Given the description of an element on the screen output the (x, y) to click on. 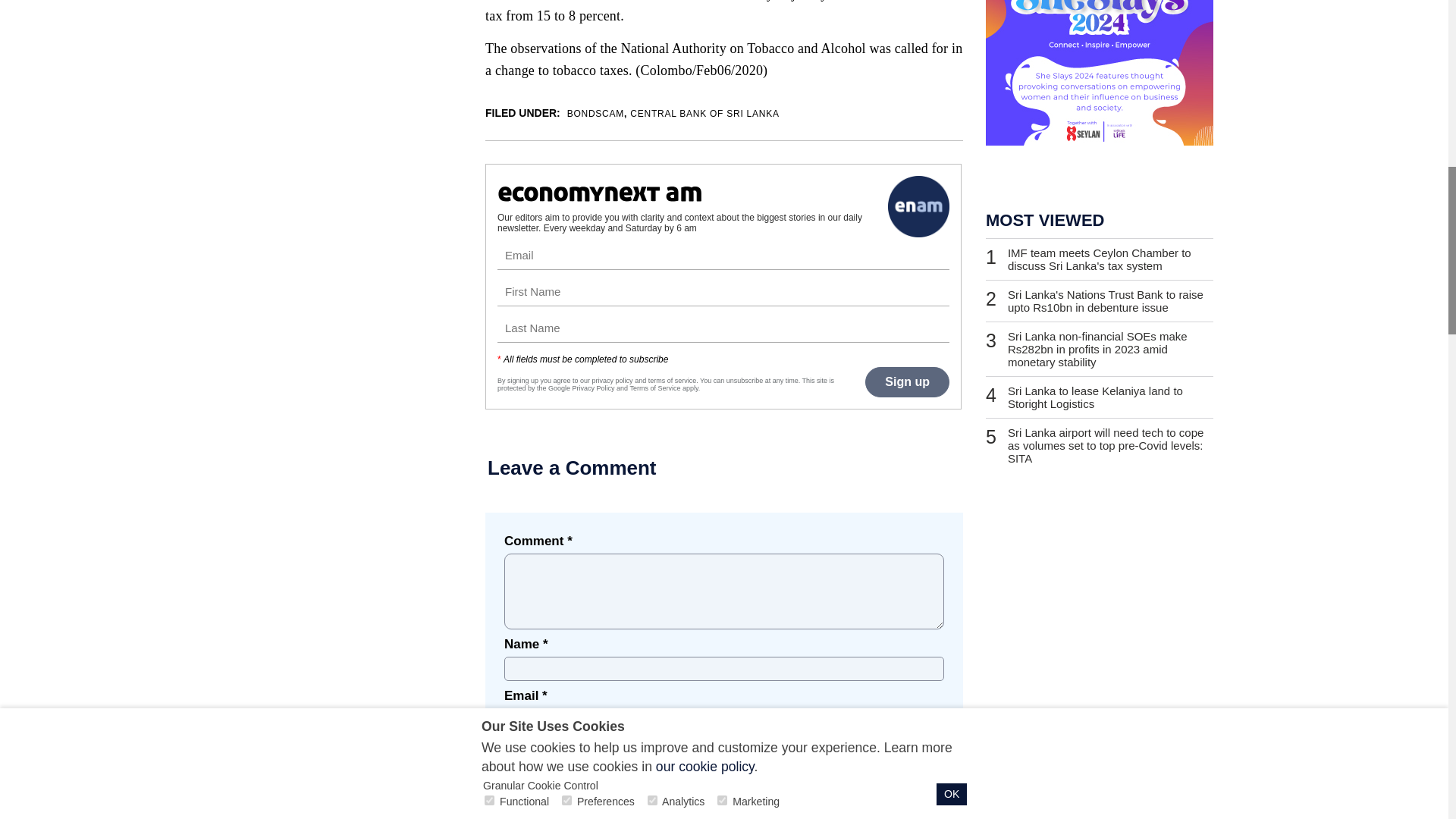
Post Comment (870, 799)
3rd party ad content (1098, 72)
